Given the description of an element on the screen output the (x, y) to click on. 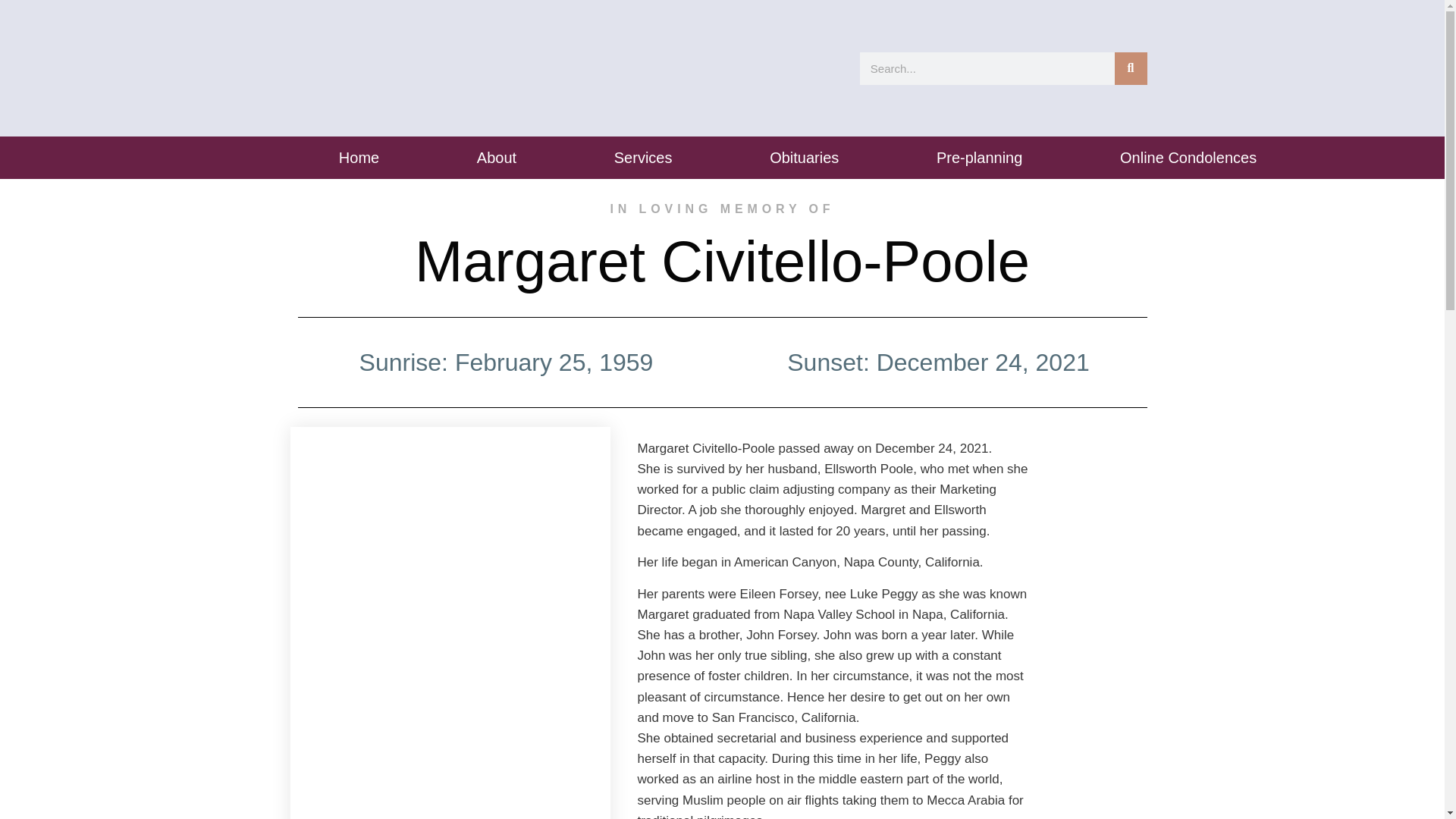
Obituaries (804, 157)
About (497, 157)
Pre-planning (979, 157)
Online Condolences (1188, 157)
Services (642, 157)
Home (358, 157)
